Given the description of an element on the screen output the (x, y) to click on. 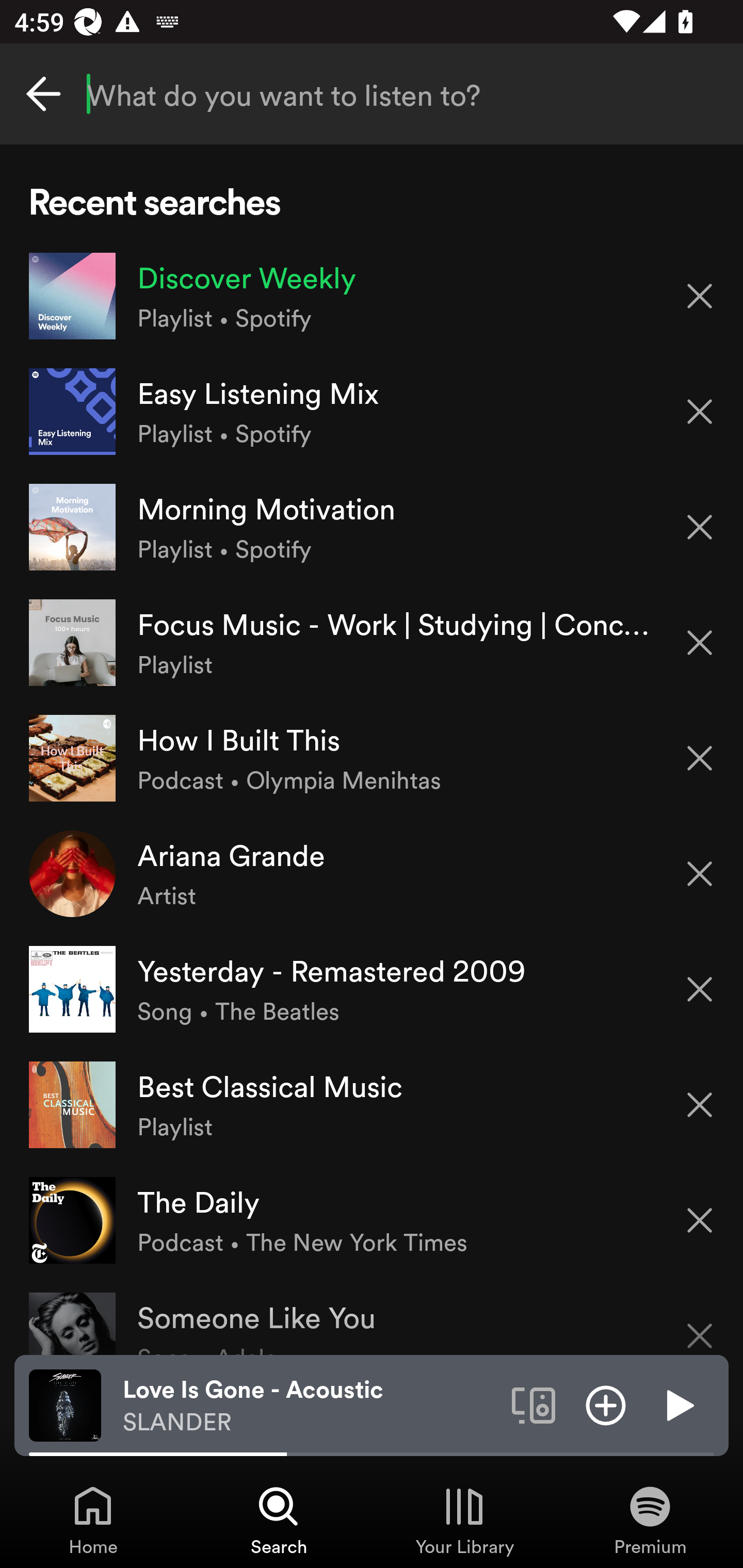
What do you want to listen to? (371, 93)
Cancel (43, 93)
Discover Weekly Playlist • Spotify Remove (371, 296)
Remove (699, 295)
Easy Listening Mix Playlist • Spotify Remove (371, 411)
Remove (699, 411)
Morning Motivation Playlist • Spotify Remove (371, 526)
Remove (699, 527)
Remove (699, 642)
Remove (699, 758)
Ariana Grande Artist Remove (371, 873)
Remove (699, 874)
Remove (699, 989)
Best Classical Music Playlist Remove (371, 1104)
Remove (699, 1104)
The Daily Podcast • The New York Times Remove (371, 1219)
Remove (699, 1220)
Someone Like You Song • Adele Remove (371, 1315)
Remove (699, 1323)
Love Is Gone - Acoustic SLANDER (309, 1405)
The cover art of the currently playing track (64, 1404)
Connect to a device. Opens the devices menu (533, 1404)
Add item (605, 1404)
Play (677, 1404)
Home, Tab 1 of 4 Home Home (92, 1519)
Search, Tab 2 of 4 Search Search (278, 1519)
Your Library, Tab 3 of 4 Your Library Your Library (464, 1519)
Premium, Tab 4 of 4 Premium Premium (650, 1519)
